Given the description of an element on the screen output the (x, y) to click on. 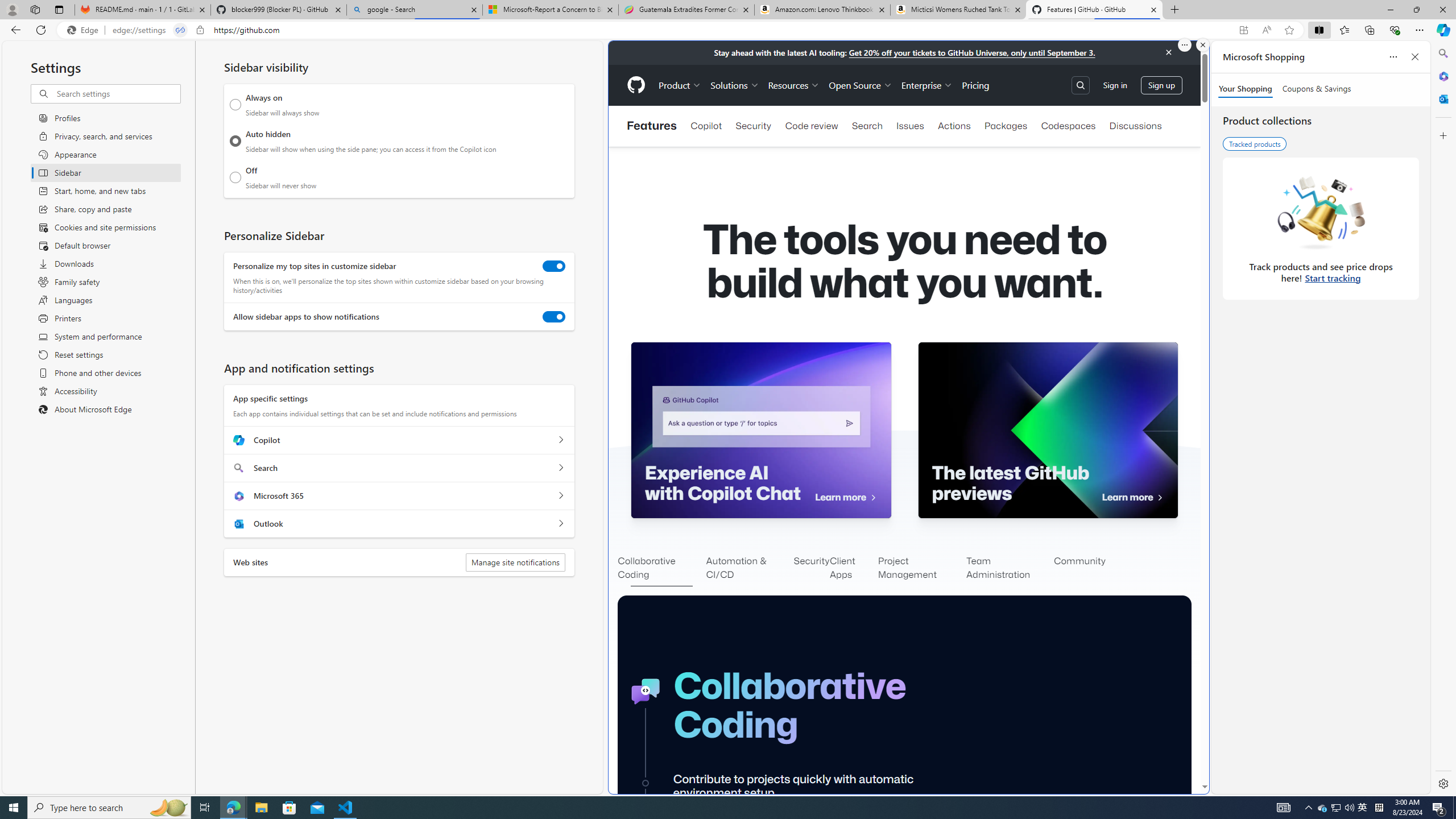
Discussions (1135, 125)
Solutions (735, 84)
The latest GitHub previews Learn more  (1047, 429)
Off Sidebar will never show (235, 177)
Actions (954, 125)
Enterprise (927, 84)
Security (811, 568)
Open Source (860, 84)
